Given the description of an element on the screen output the (x, y) to click on. 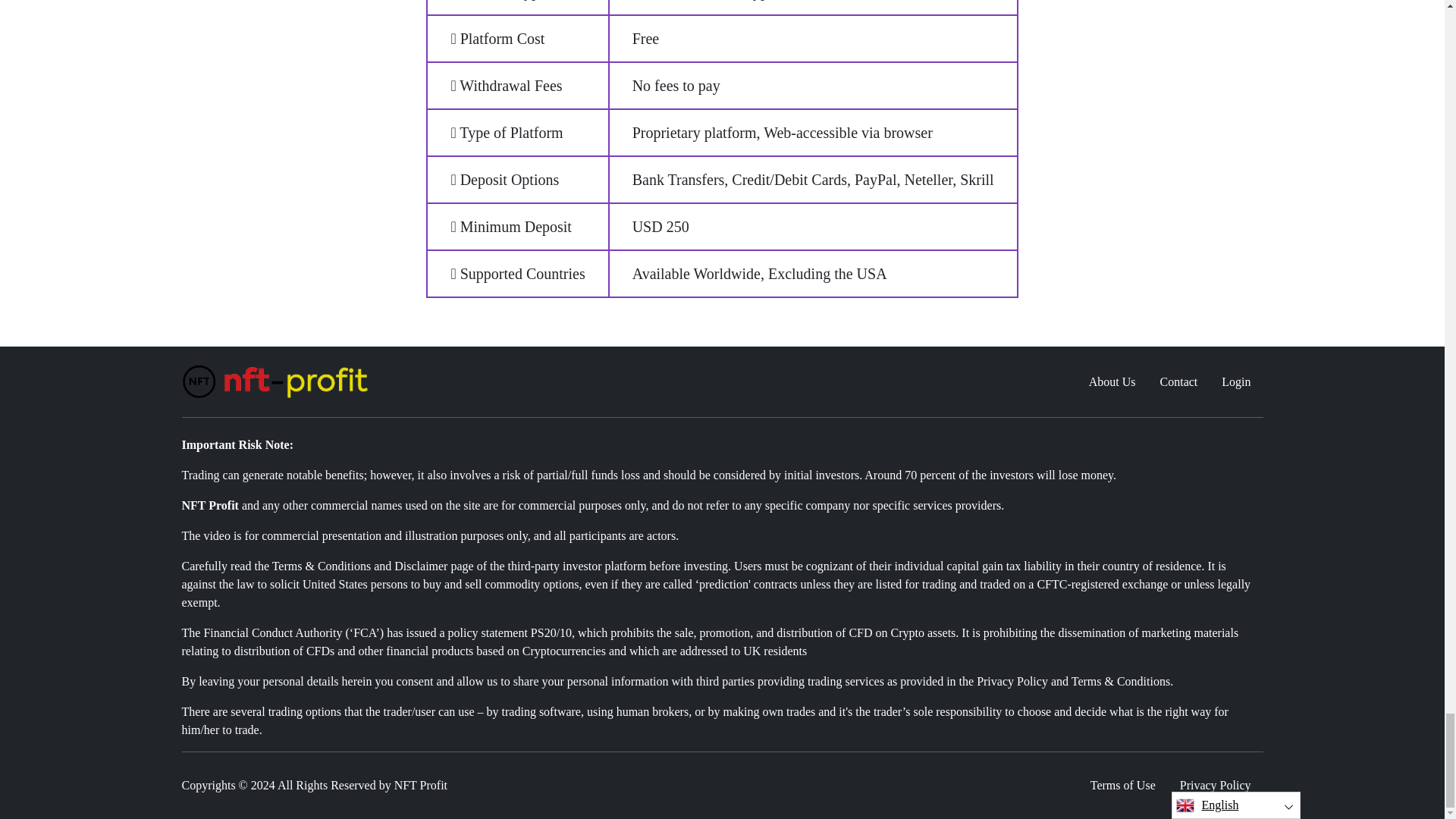
Terms of Use (1122, 785)
Contact (1178, 381)
About Us (1112, 381)
Login (1235, 381)
Privacy Policy (1215, 785)
